Given the description of an element on the screen output the (x, y) to click on. 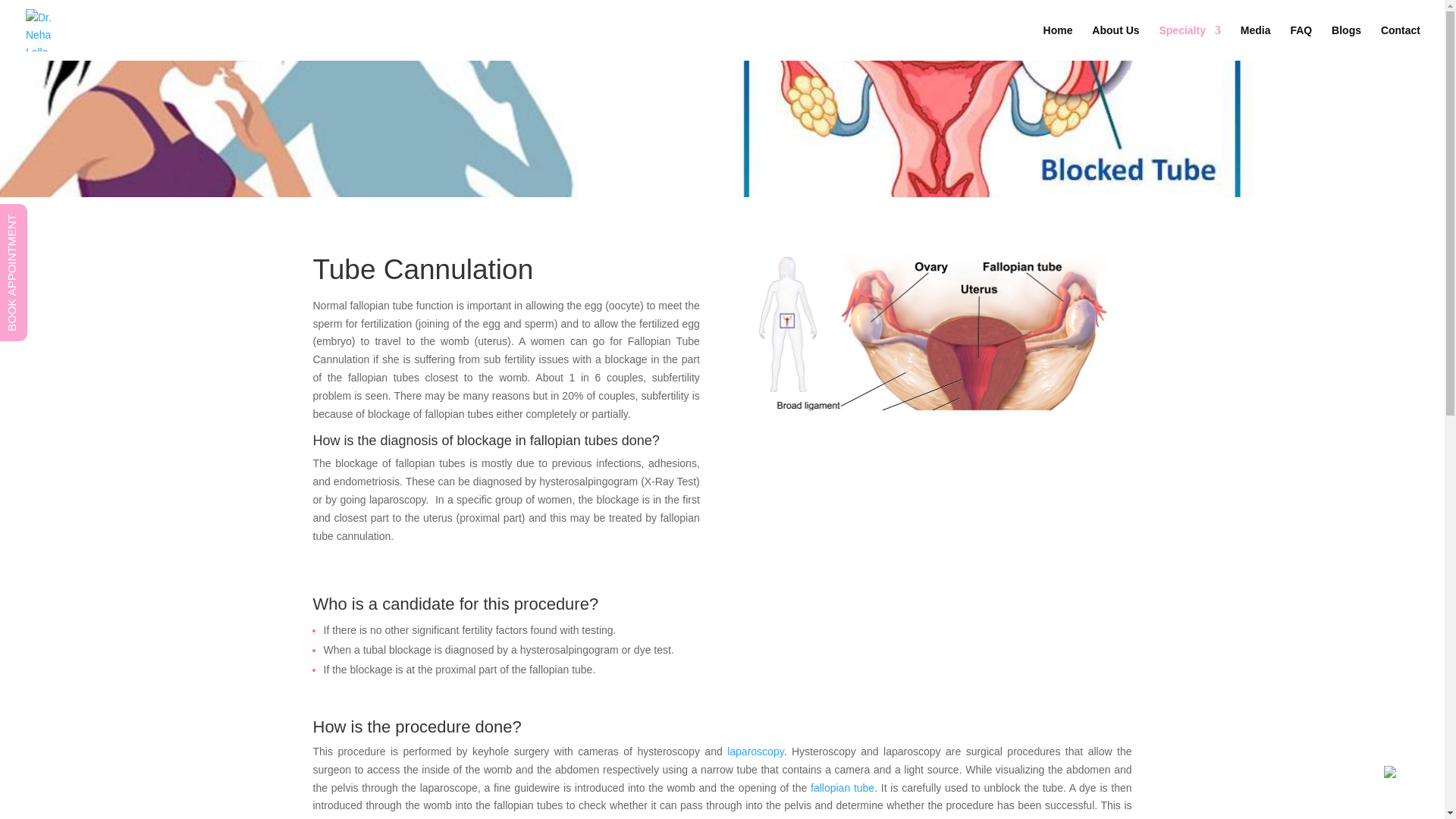
Fallopian tube removal  (840, 787)
BOOK APPOINTMENT (67, 217)
laparoscopy surgery (754, 751)
Tube-Cannulation (937, 384)
About Us (1115, 42)
Contact (1400, 42)
Specialty (1189, 42)
laparoscopy (754, 751)
fallopian tube (840, 787)
